Given the description of an element on the screen output the (x, y) to click on. 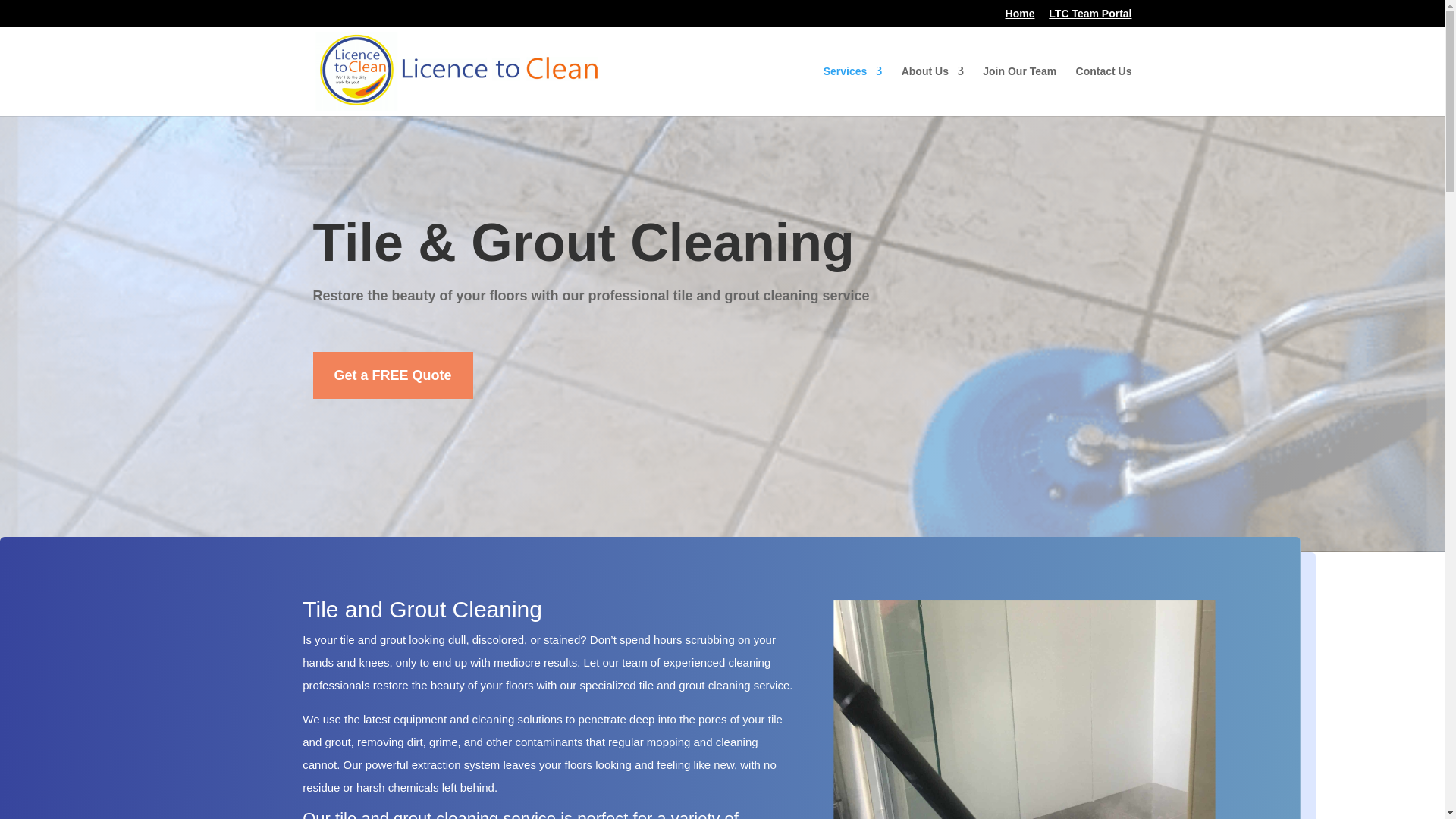
Join Our Team (1019, 91)
LTC Team Portal (1089, 16)
Home (1020, 16)
About Us (932, 91)
Contact Us (1103, 91)
Services (853, 91)
